Given the description of an element on the screen output the (x, y) to click on. 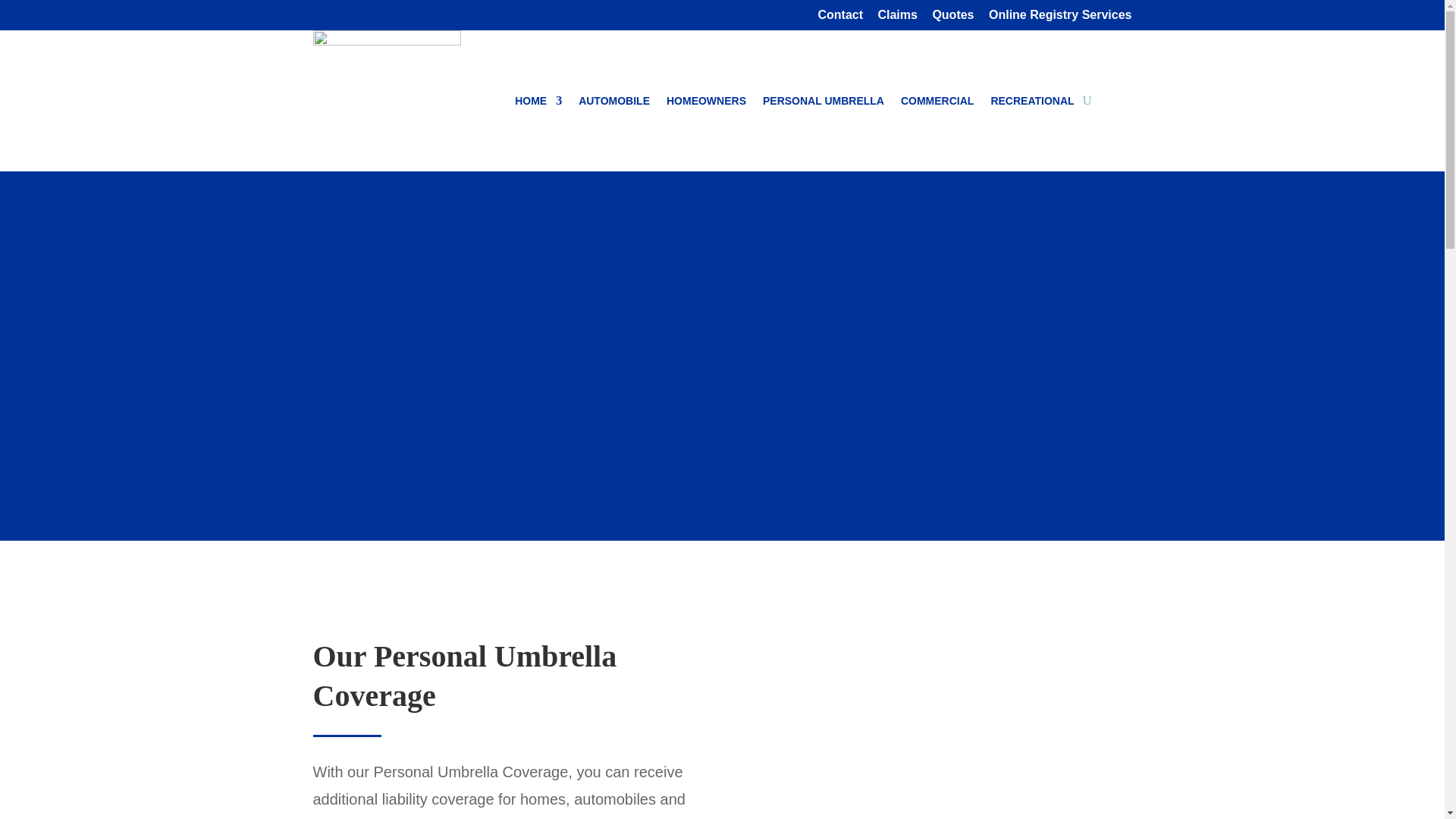
Quotes (952, 19)
Online Registry Services (1060, 19)
Claims (897, 19)
Contact (839, 19)
